Given the description of an element on the screen output the (x, y) to click on. 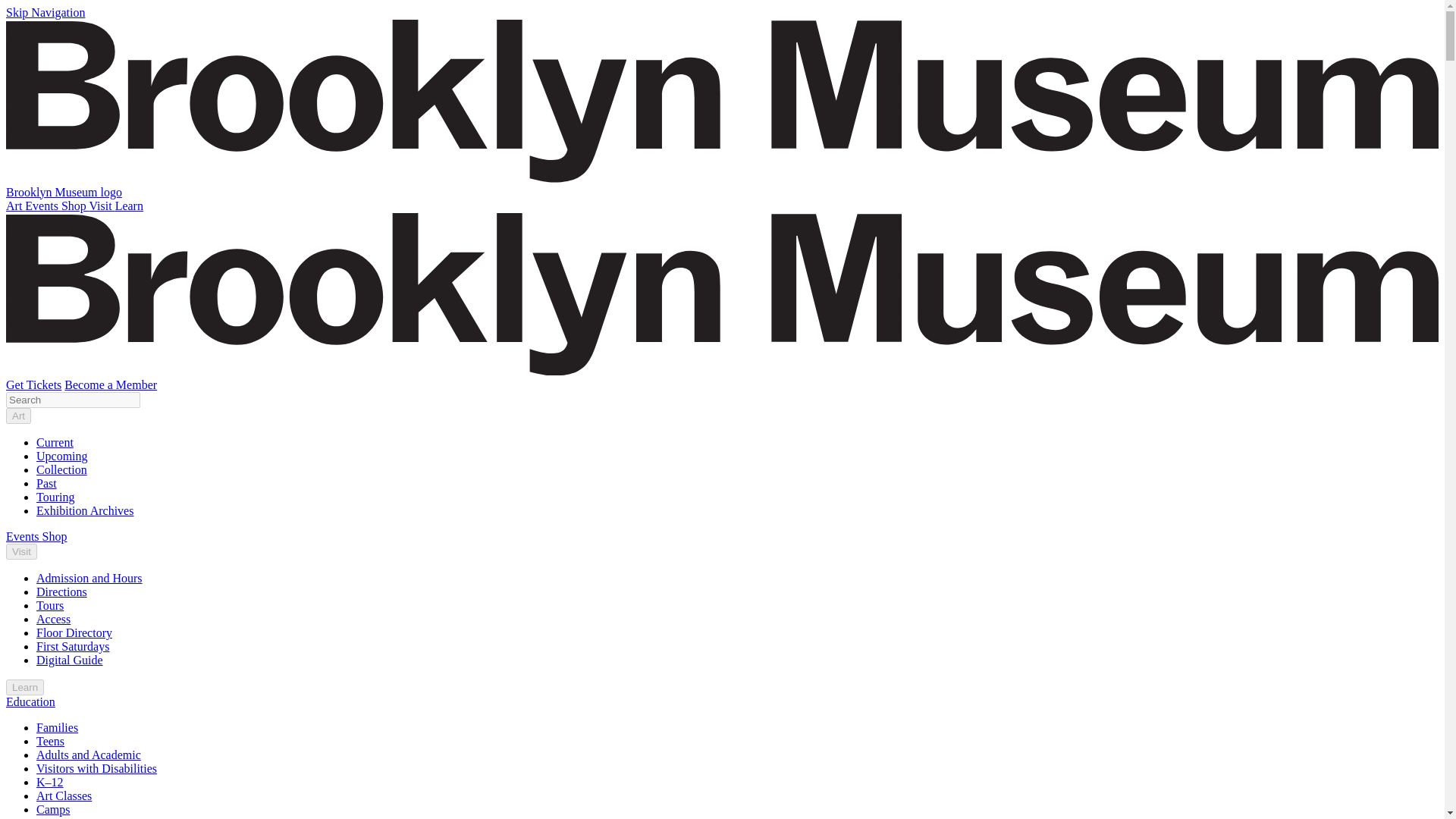
Floor Directory (74, 632)
Tours (50, 604)
Shop (74, 205)
Upcoming (61, 455)
Art (17, 415)
Directions (61, 591)
Art (14, 205)
Become a Member (110, 384)
Past (46, 482)
Events (42, 205)
Visit (21, 551)
Skip Navigation (44, 11)
Touring (55, 496)
Learn (24, 687)
Education (30, 701)
